Given the description of an element on the screen output the (x, y) to click on. 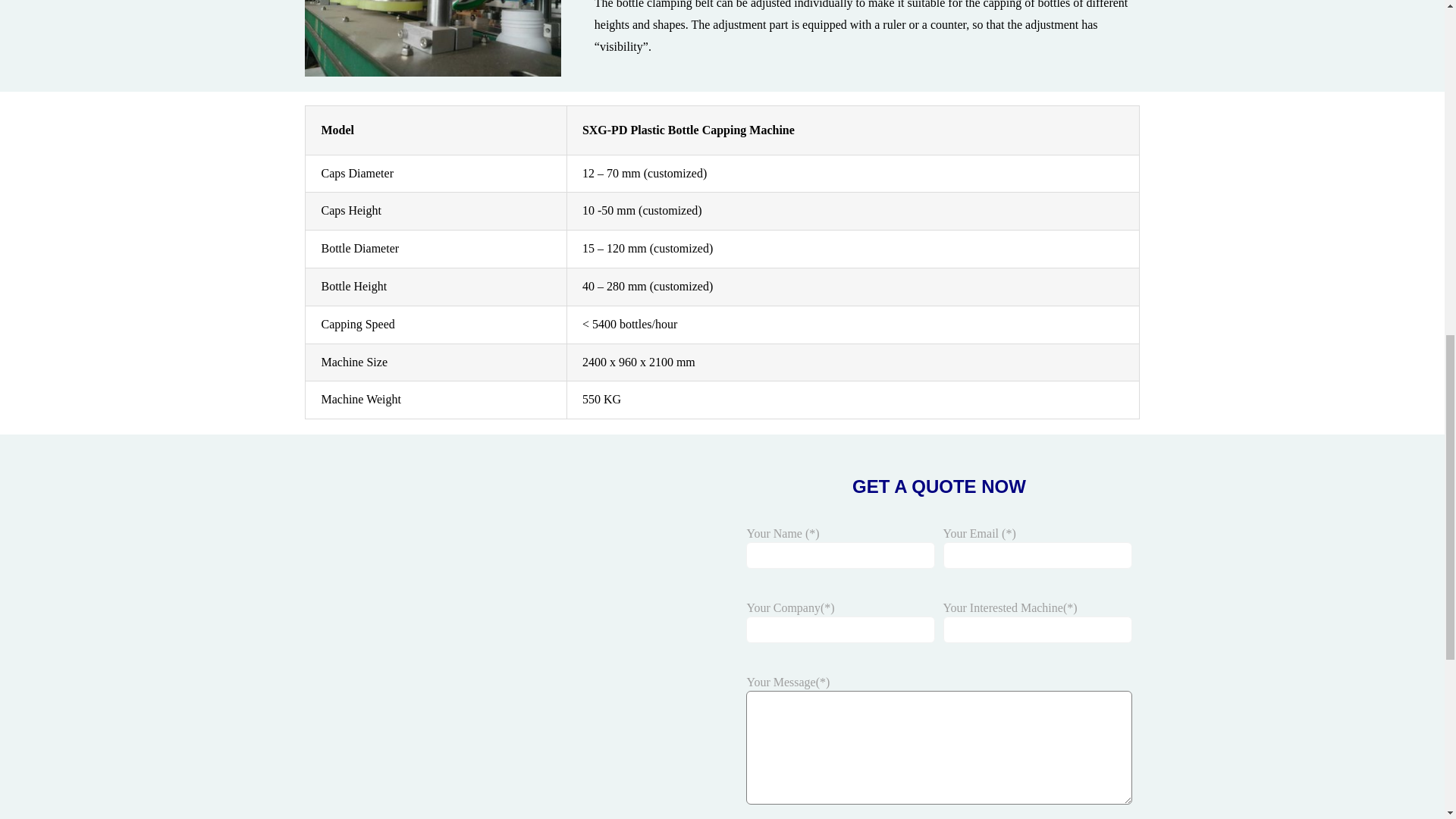
YouTube video player 1 (504, 651)
